Given the description of an element on the screen output the (x, y) to click on. 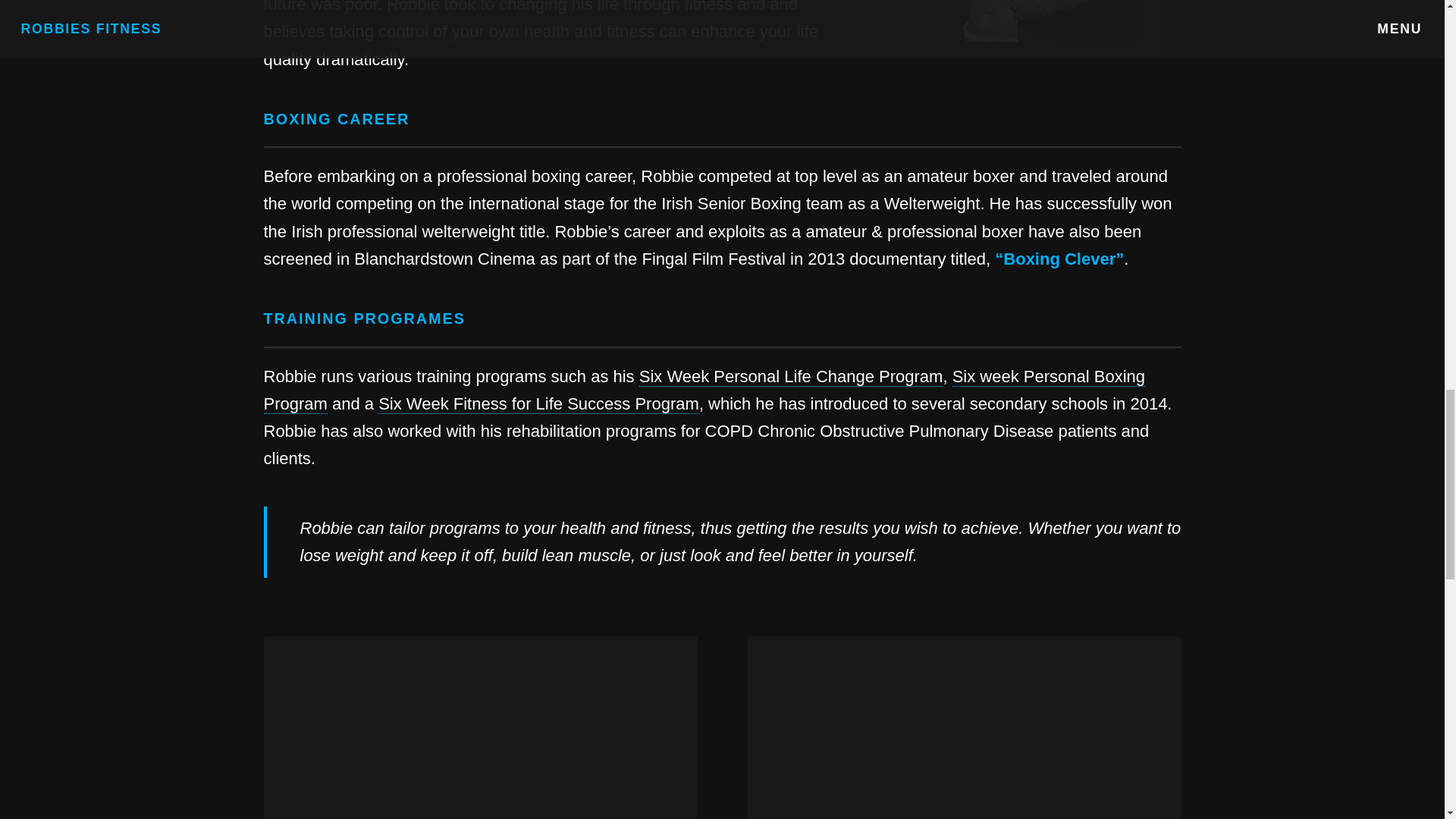
Six Week Fitness for Life Success Program (538, 403)
Six Week Personal Life Change Program (791, 376)
Six week Personal Boxing Program (704, 390)
